Given the description of an element on the screen output the (x, y) to click on. 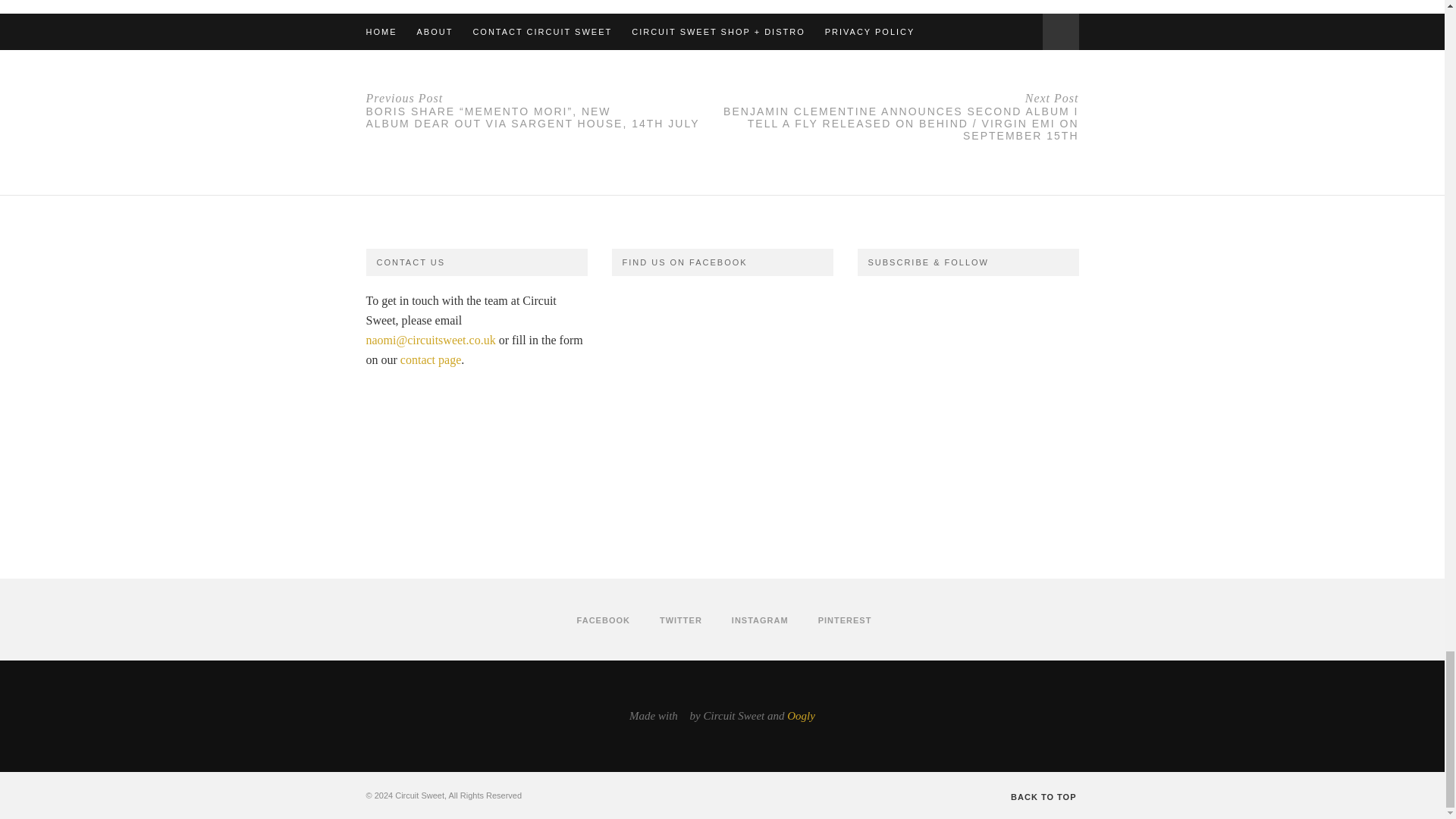
Learn how your comment data is processed (662, 19)
contact page (430, 359)
